Given the description of an element on the screen output the (x, y) to click on. 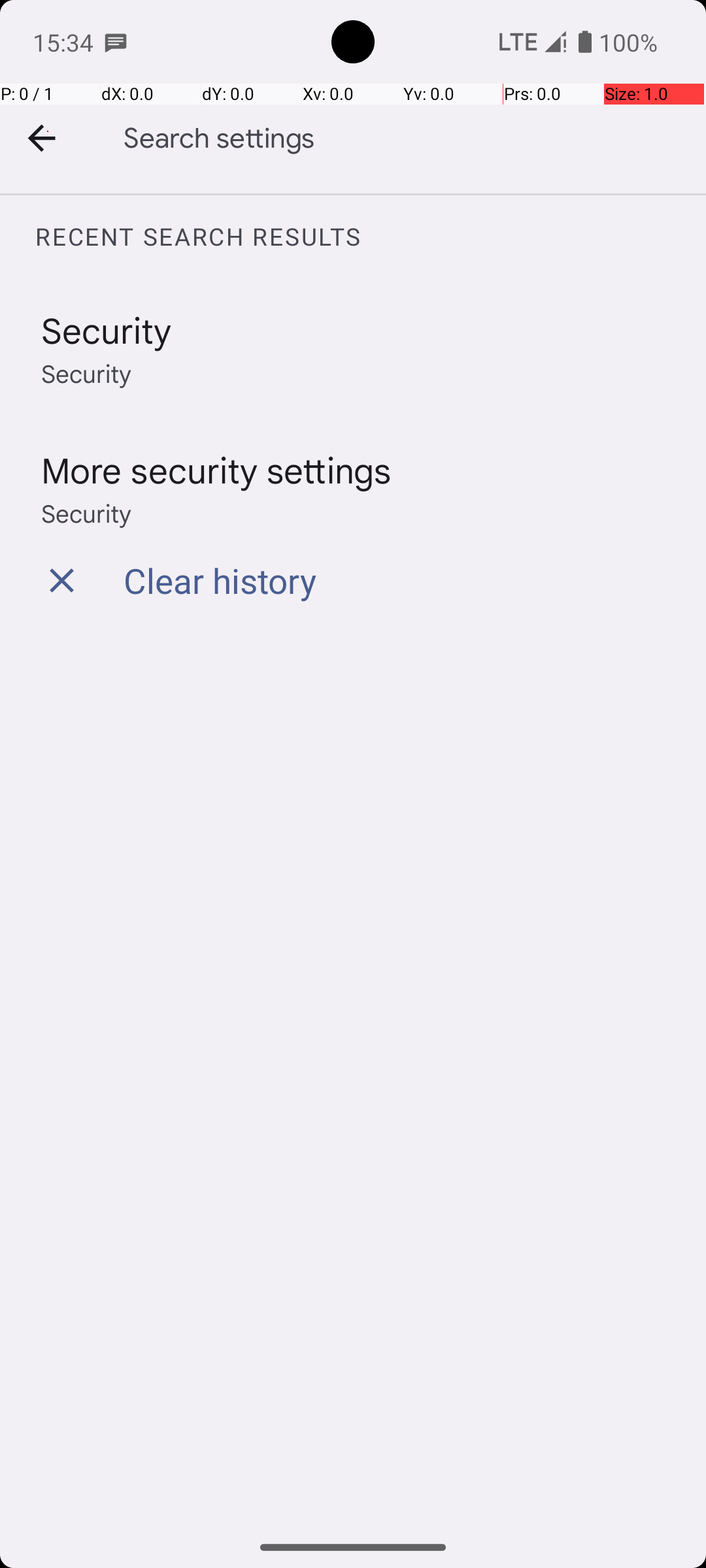
RECENT SEARCH RESULTS Element type: android.widget.TextView (370, 236)
Security Element type: android.widget.TextView (106, 329)
More security settings Element type: android.widget.TextView (216, 468)
Clear history Element type: android.widget.TextView (219, 580)
